Given the description of an element on the screen output the (x, y) to click on. 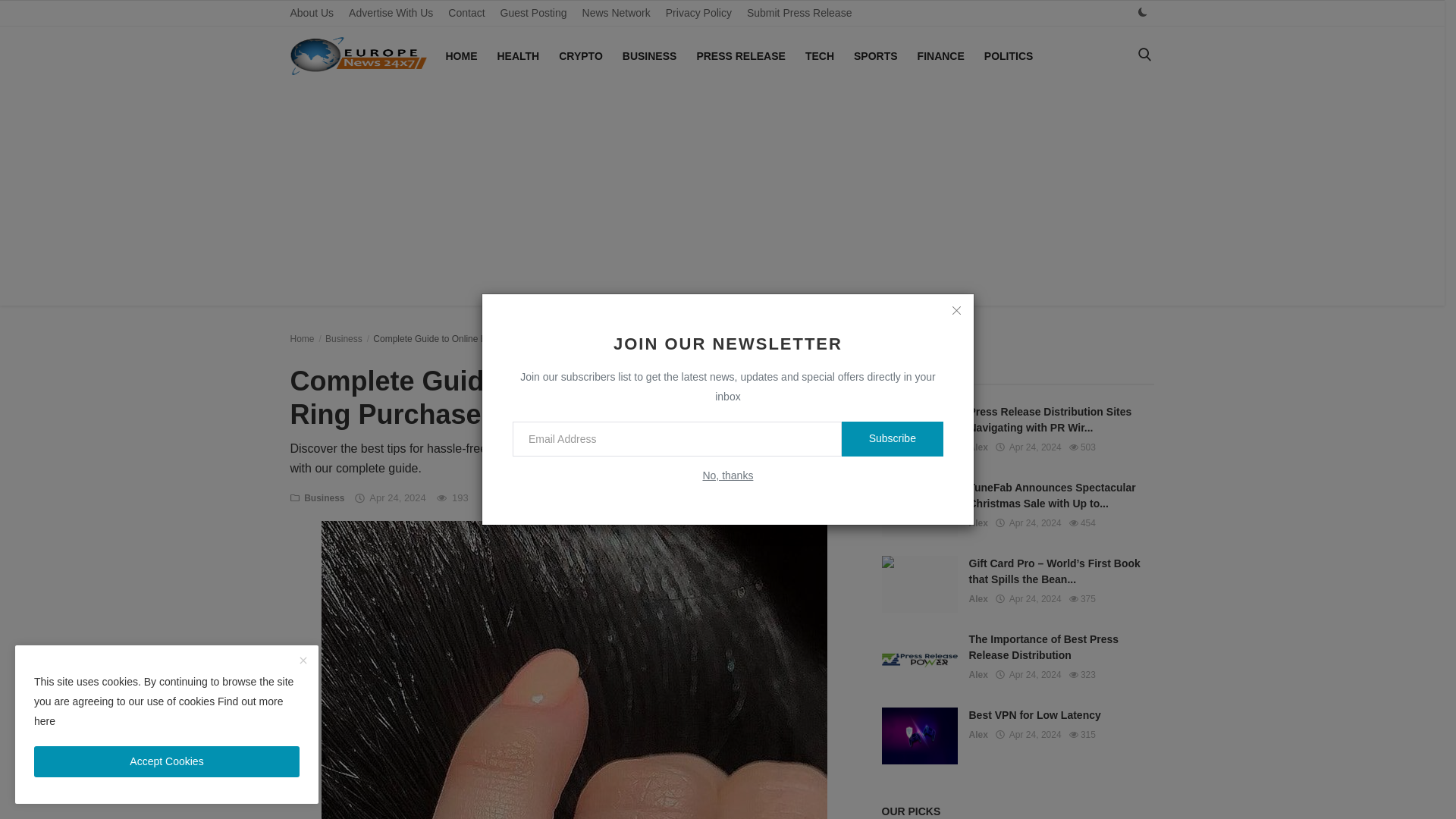
FINANCE (941, 55)
PRESS RELEASE (740, 55)
Guest Posting (534, 13)
HEALTH (518, 55)
POLITICS (1008, 55)
Advertise With Us (390, 13)
Privacy Policy (698, 13)
Contact (466, 13)
SPORTS (875, 55)
About Us (311, 13)
dark (1141, 12)
CRYPTO (580, 55)
BUSINESS (649, 55)
Submit Press Release (799, 13)
